Given the description of an element on the screen output the (x, y) to click on. 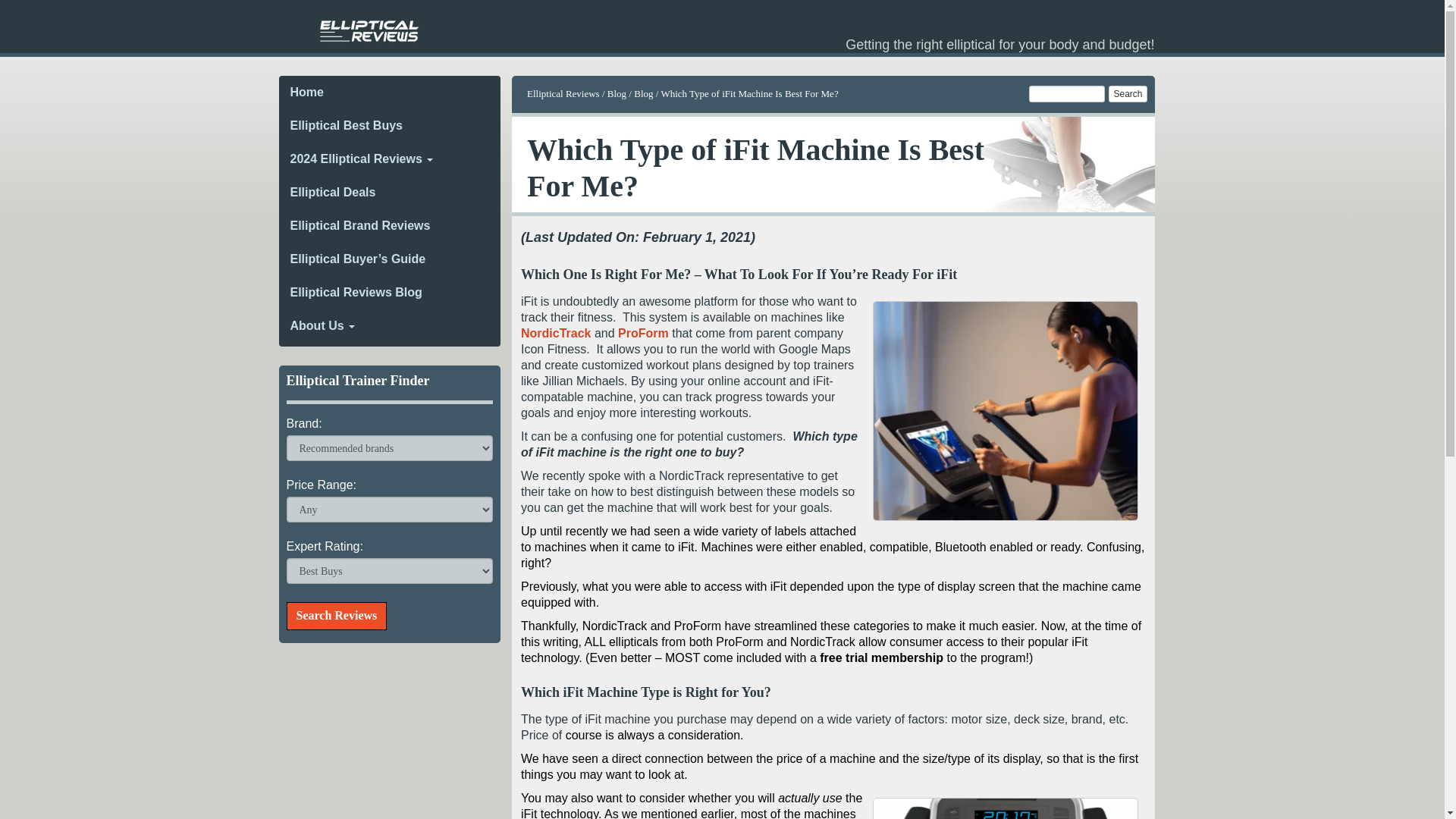
Elliptical Reviews Blog (389, 292)
2024 Elliptical Reviews (389, 159)
Search (1127, 93)
NordicTrack (556, 332)
Elliptical Deals (389, 192)
Elliptical Buyer's Guide (389, 259)
About Us (389, 326)
2024 Elliptical Reviews (389, 159)
Go to Elliptical Reviews. (563, 93)
Elliptical Best Buys (389, 125)
